Given the description of an element on the screen output the (x, y) to click on. 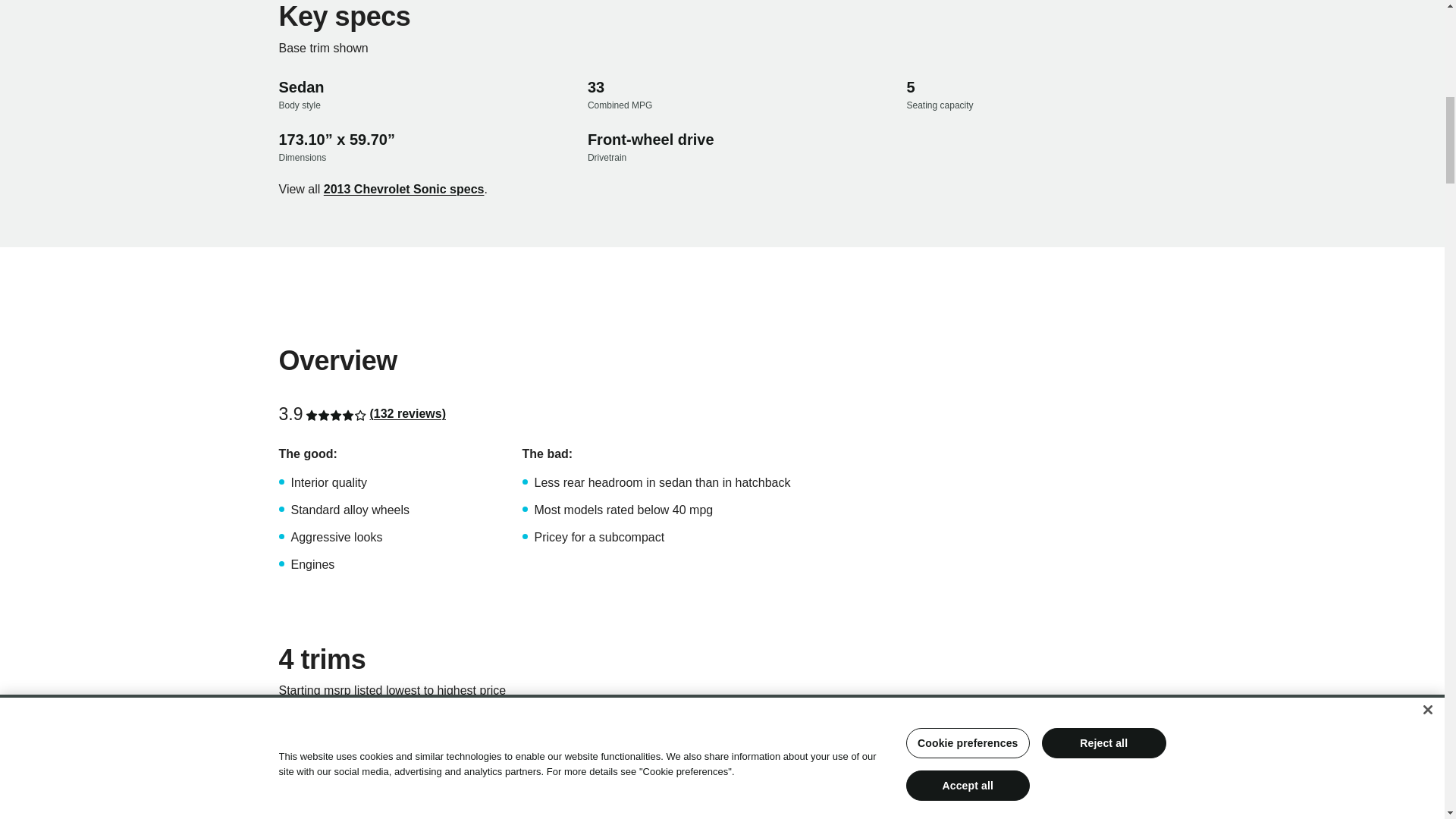
LTZ (289, 809)
2013 Chevrolet Sonic specs (403, 189)
